Given the description of an element on the screen output the (x, y) to click on. 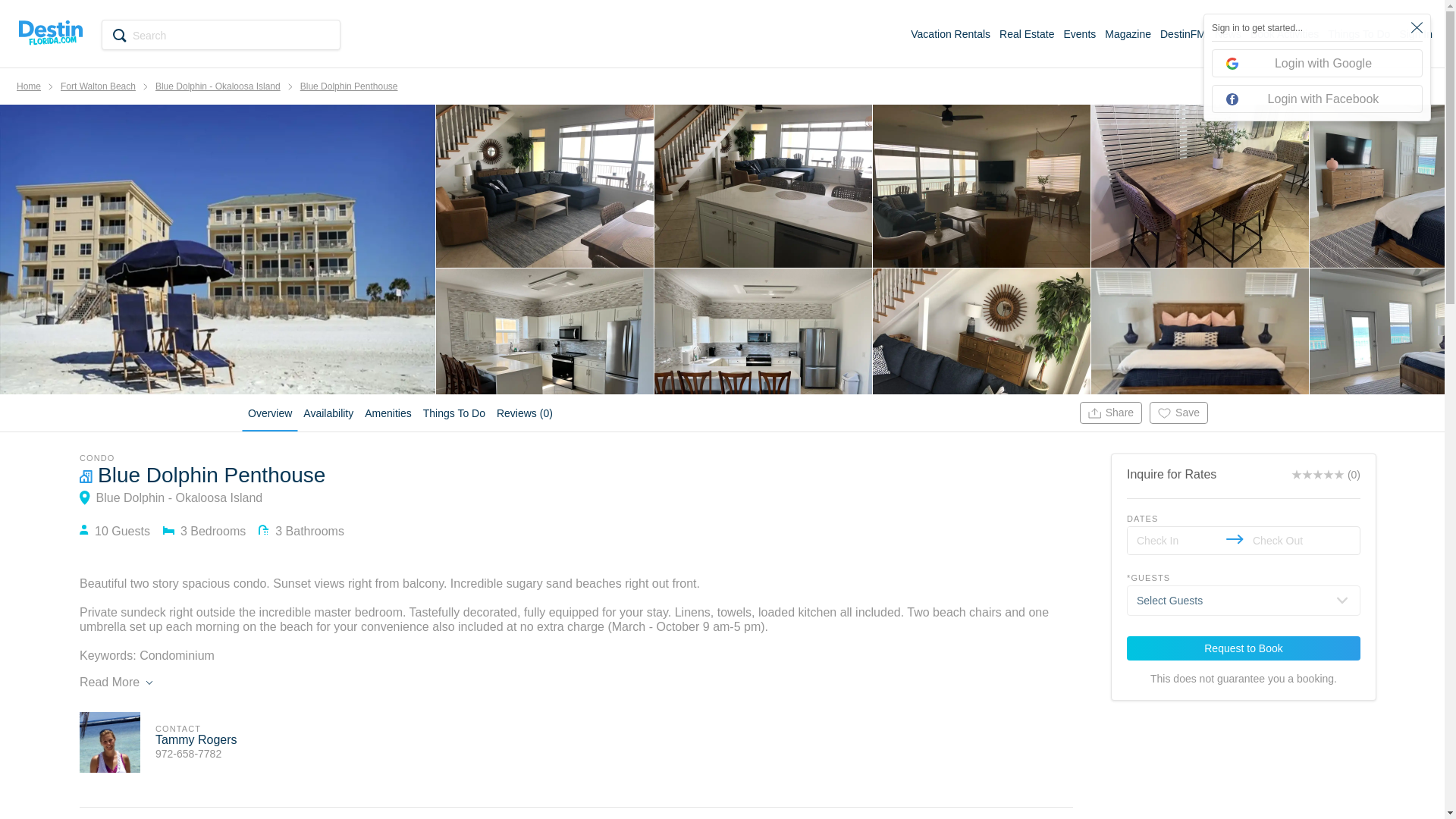
Header Logo (50, 32)
Header Logo (50, 33)
Things To Do (1358, 33)
DestinFM (1182, 33)
Vacation Rentals (950, 33)
Magazine (1128, 33)
Real Estate (1026, 33)
News (1227, 33)
Login with Facebook (1316, 99)
